Given the description of an element on the screen output the (x, y) to click on. 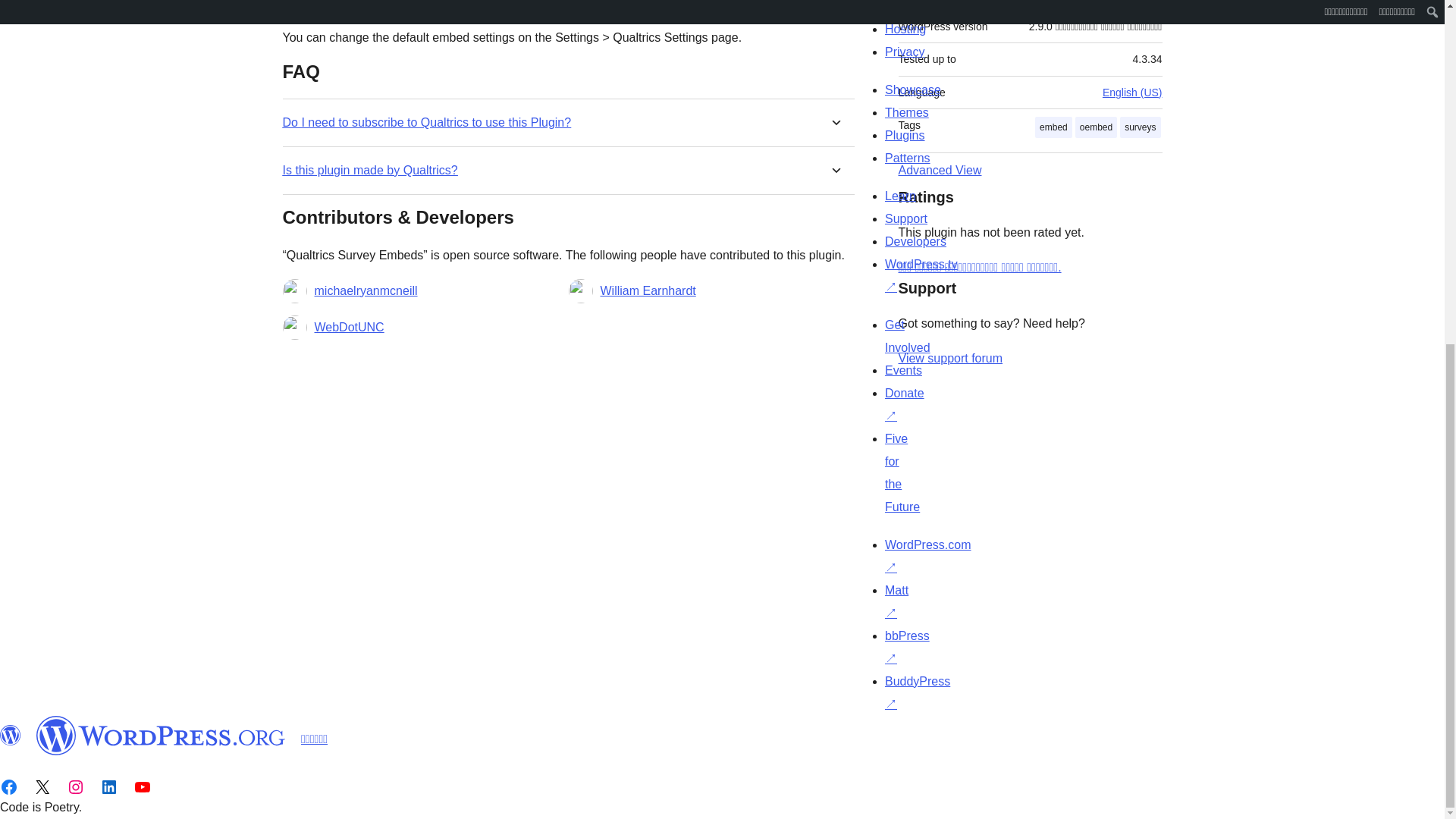
Do I need to subscribe to Qualtrics to use this Plugin? (426, 122)
Is this plugin made by Qualtrics? (369, 169)
William Earnhardt (647, 291)
WordPress.org (10, 735)
WordPress.org (160, 735)
michaelryanmcneill (365, 291)
WebDotUNC (349, 327)
